Given the description of an element on the screen output the (x, y) to click on. 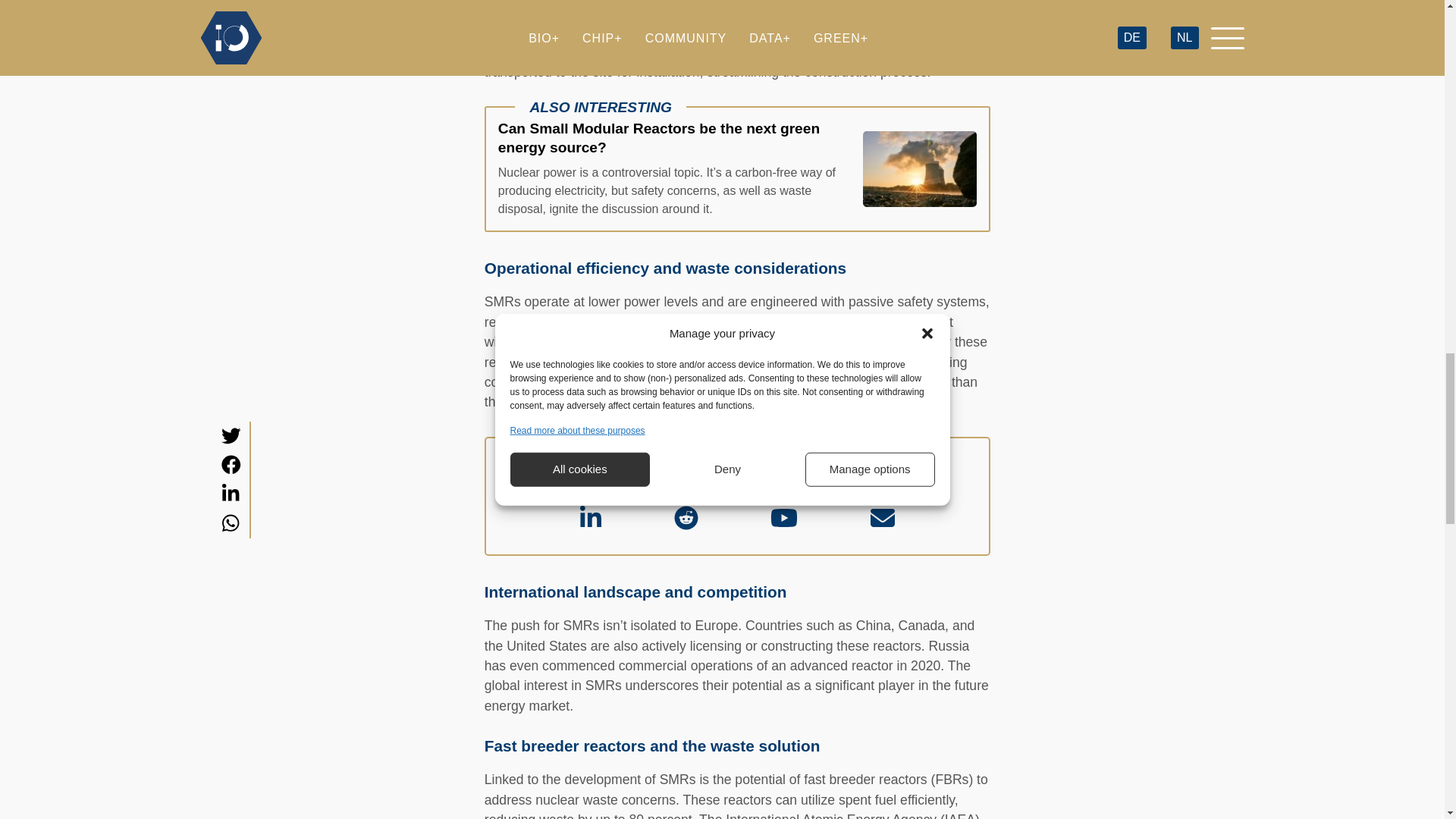
Can Small Modular Reactors be the next green energy source? (737, 168)
